Given the description of an element on the screen output the (x, y) to click on. 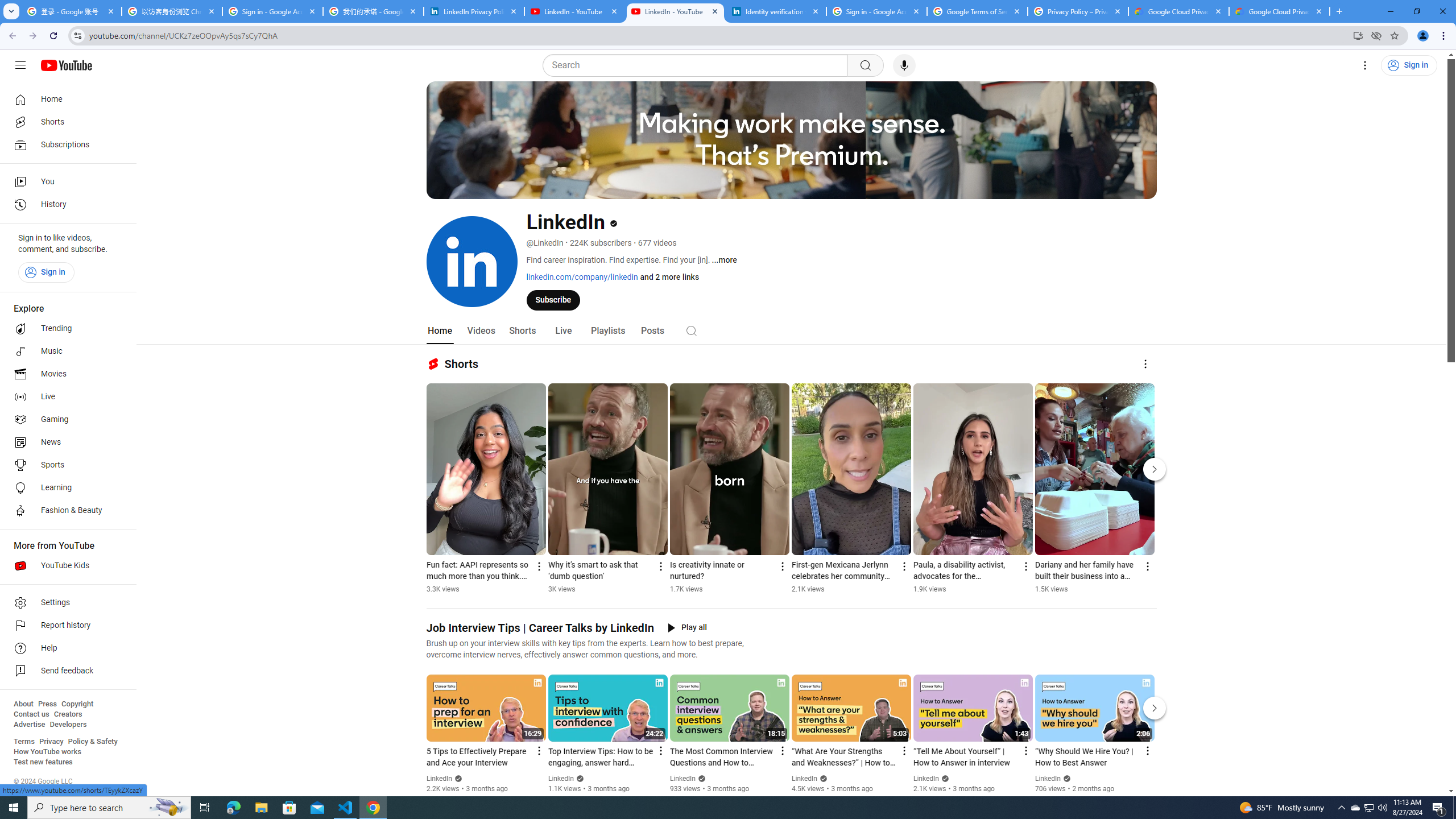
Sports (64, 464)
LinkedIn - YouTube (675, 11)
Sign in - Google Accounts (271, 11)
Developers (68, 724)
Copyright (77, 703)
